Given the description of an element on the screen output the (x, y) to click on. 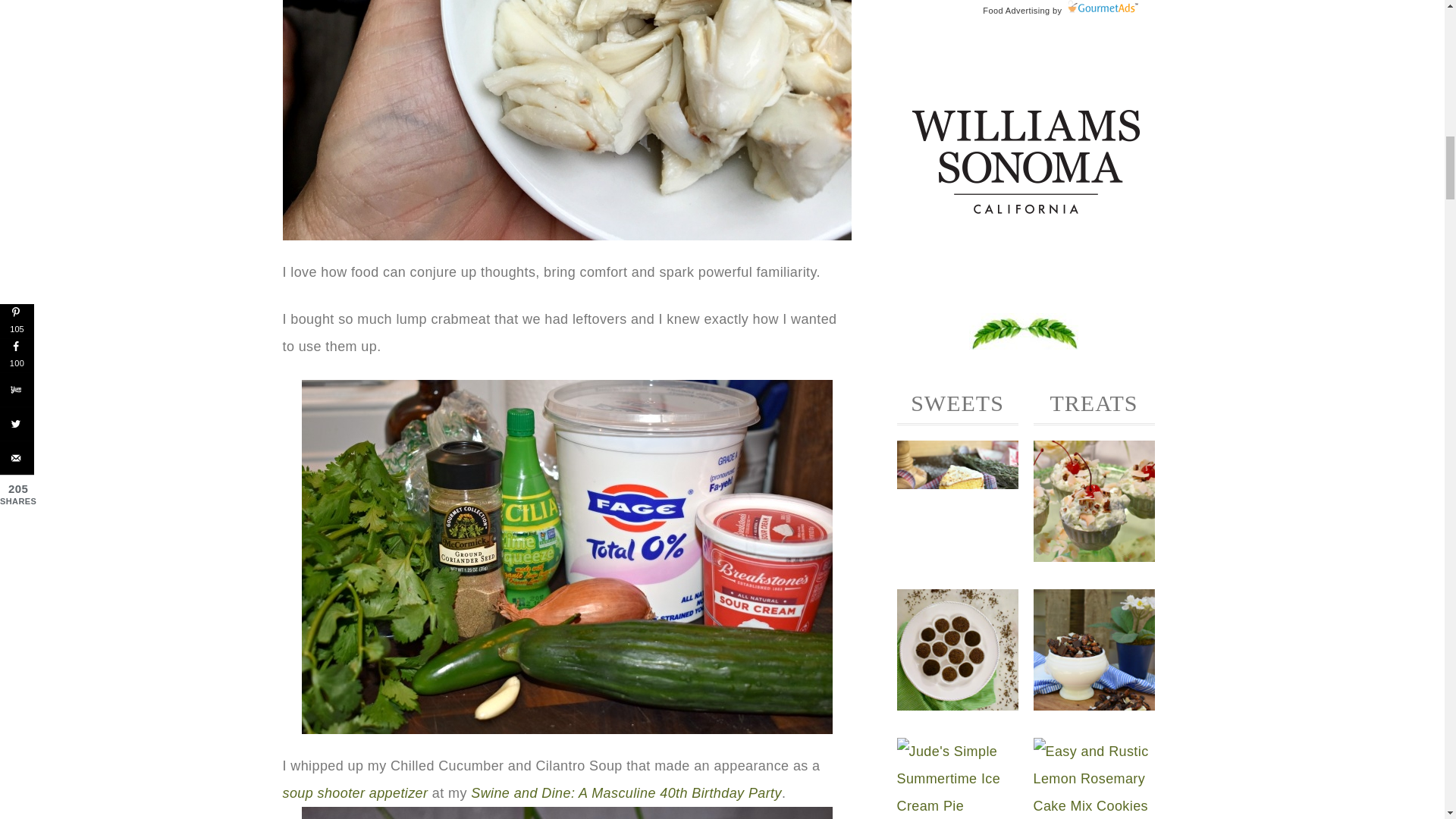
Food Advertising (1015, 10)
